Given the description of an element on the screen output the (x, y) to click on. 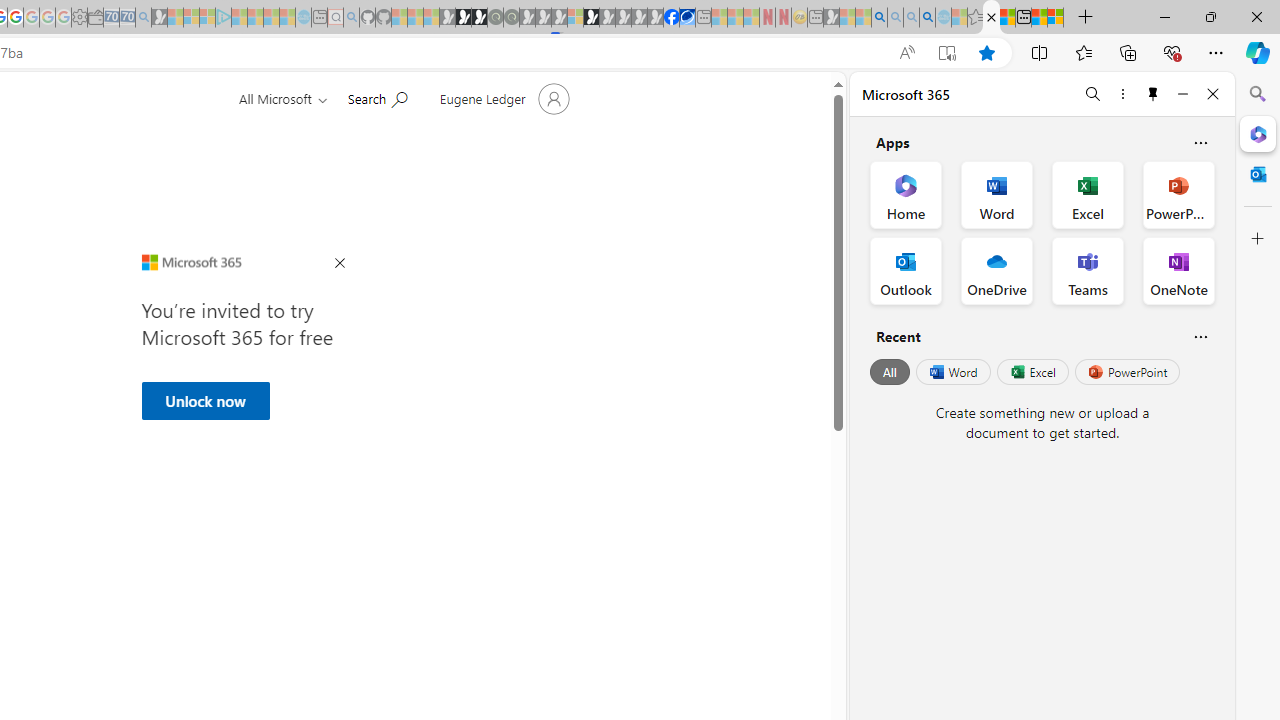
Microsoft Start Gaming - Sleeping (159, 17)
MSN - Sleeping (831, 17)
OneDrive Office App (996, 270)
Enter Immersive Reader (F9) (946, 53)
Wallet - Sleeping (95, 17)
Search for help (377, 97)
Account manager for Eugene Ledger (502, 98)
